Given the description of an element on the screen output the (x, y) to click on. 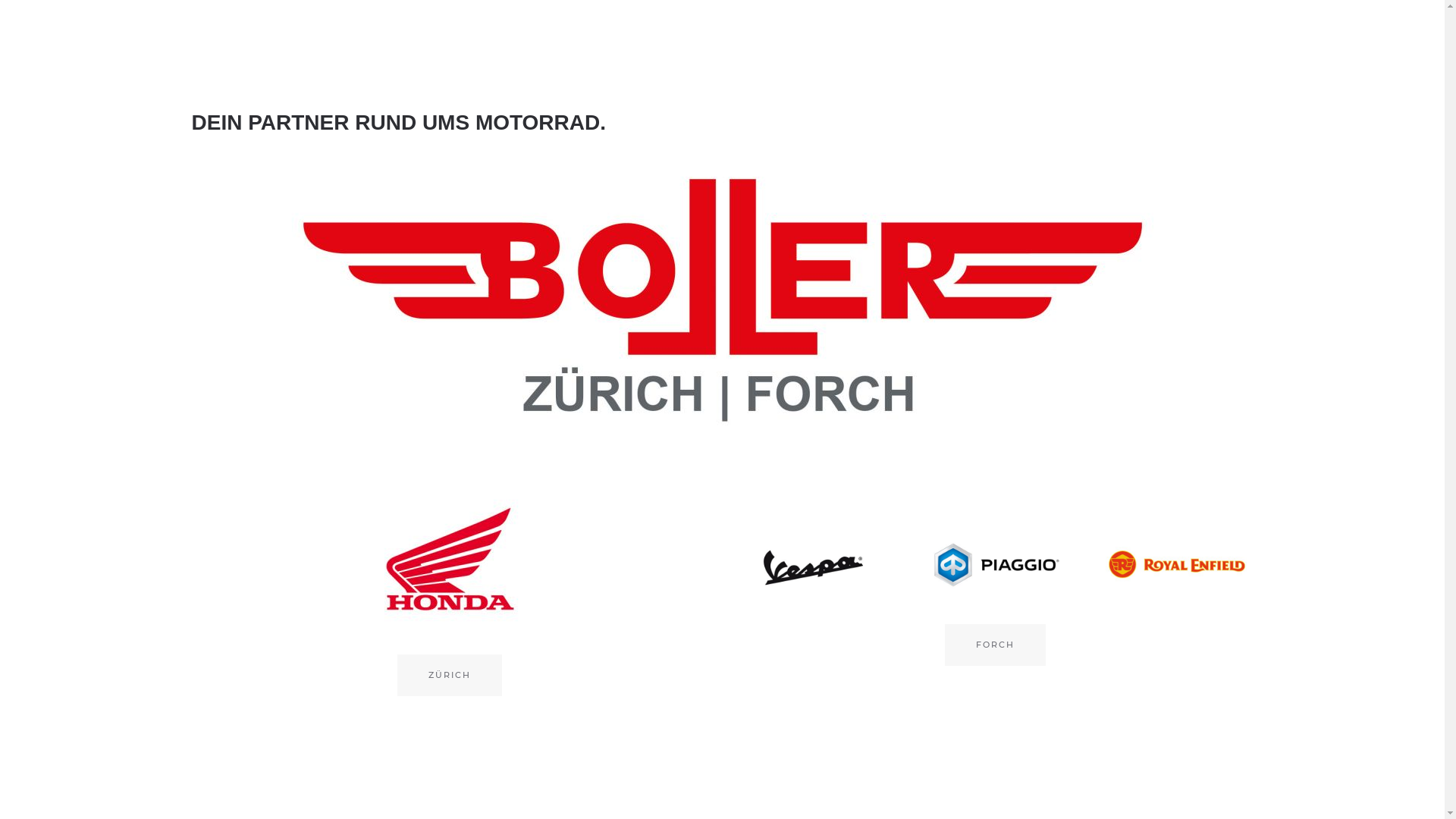
FORCH Element type: text (994, 644)
